Given the description of an element on the screen output the (x, y) to click on. 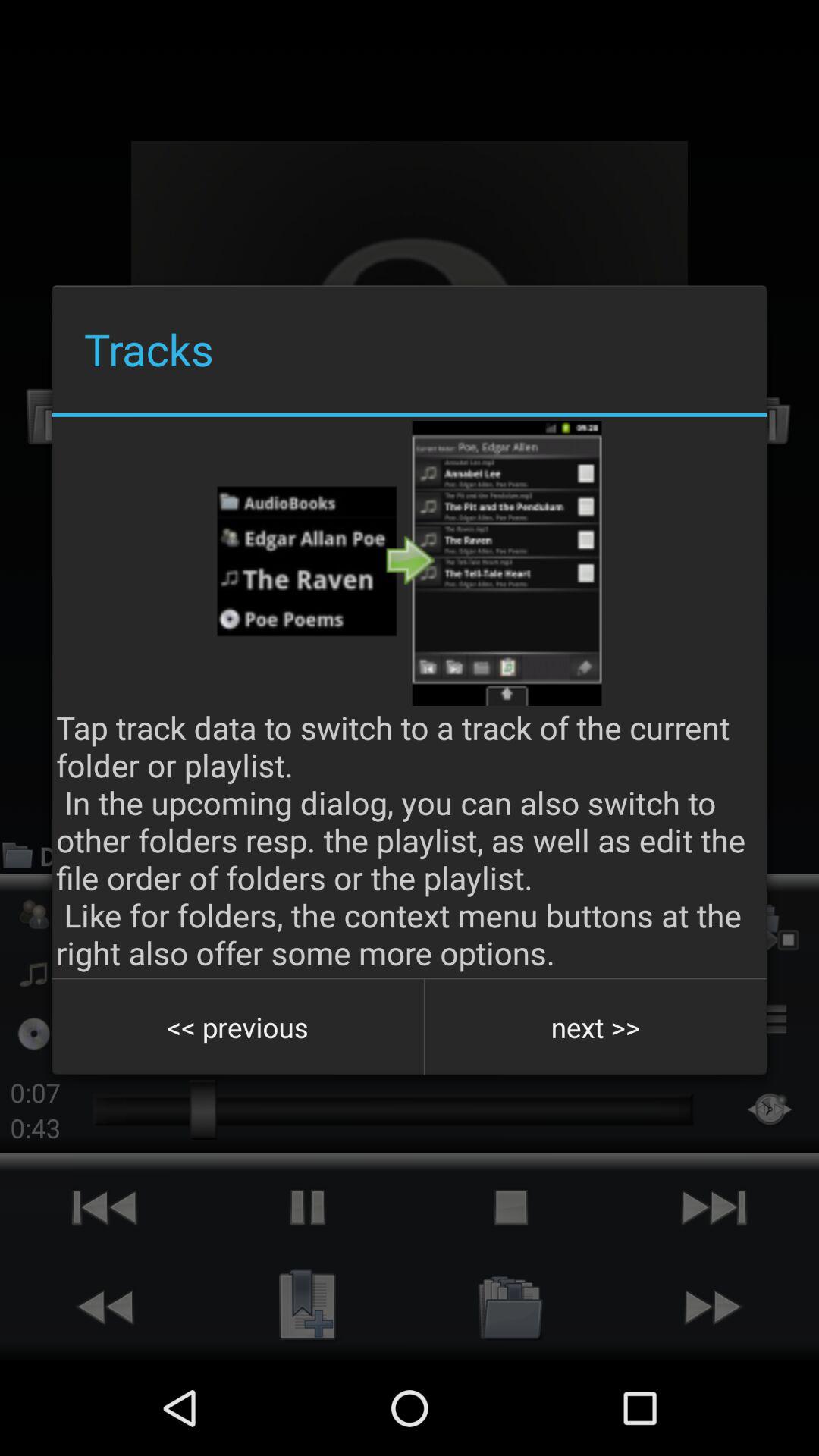
click the << previous item (237, 1026)
